Given the description of an element on the screen output the (x, y) to click on. 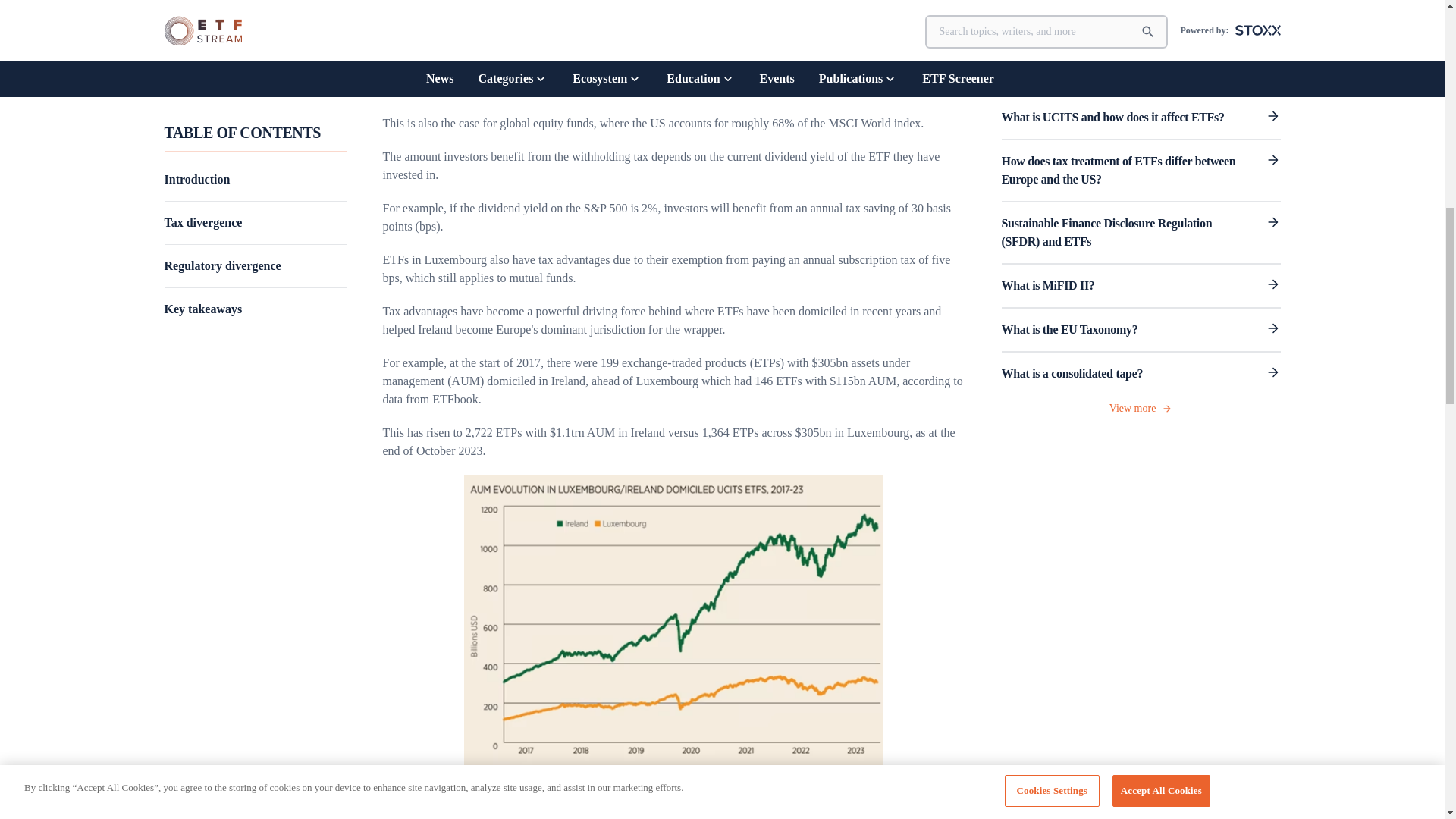
3rd party ad content (1139, 15)
Key takeaways (254, 315)
Regulatory divergence  (254, 272)
Tax divergence (254, 228)
Introduction (254, 185)
